Given the description of an element on the screen output the (x, y) to click on. 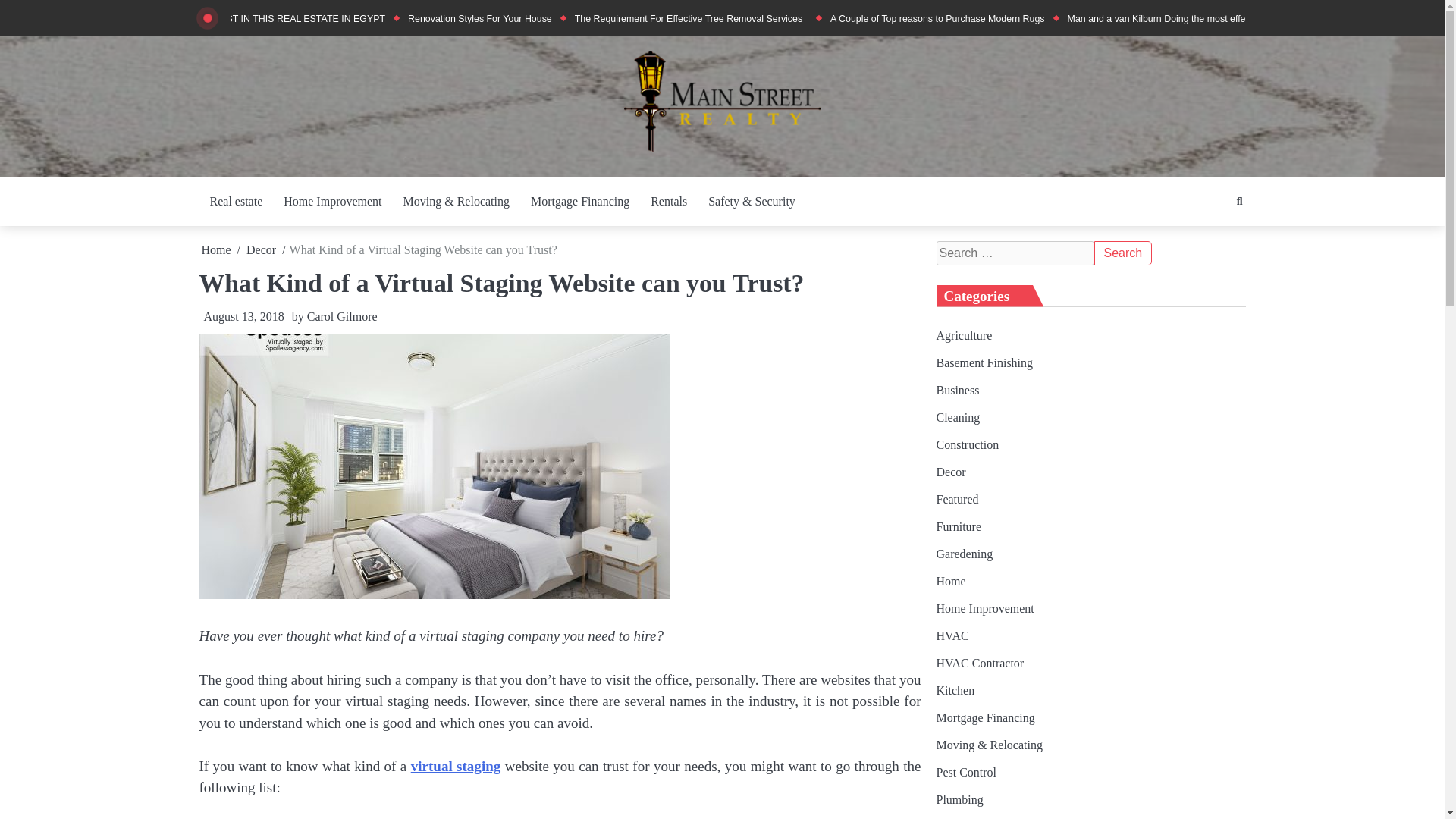
Carol Gilmore (342, 316)
August 13, 2018 (240, 316)
Agriculture (963, 335)
Business (957, 390)
Search (1122, 252)
A Couple of Top reasons to Purchase Modern Rugs (937, 18)
Search (1210, 232)
The Requirement For Effective Tree Removal Services   (691, 18)
Home Improvement (332, 201)
Search (1122, 252)
Renovation Styles For Your House (479, 18)
WHY YOU NEED TO INVEST IN THIS REAL ESTATE IN EGYPT (249, 18)
Basement Finishing (984, 362)
Home (216, 249)
Cleaning (957, 417)
